Given the description of an element on the screen output the (x, y) to click on. 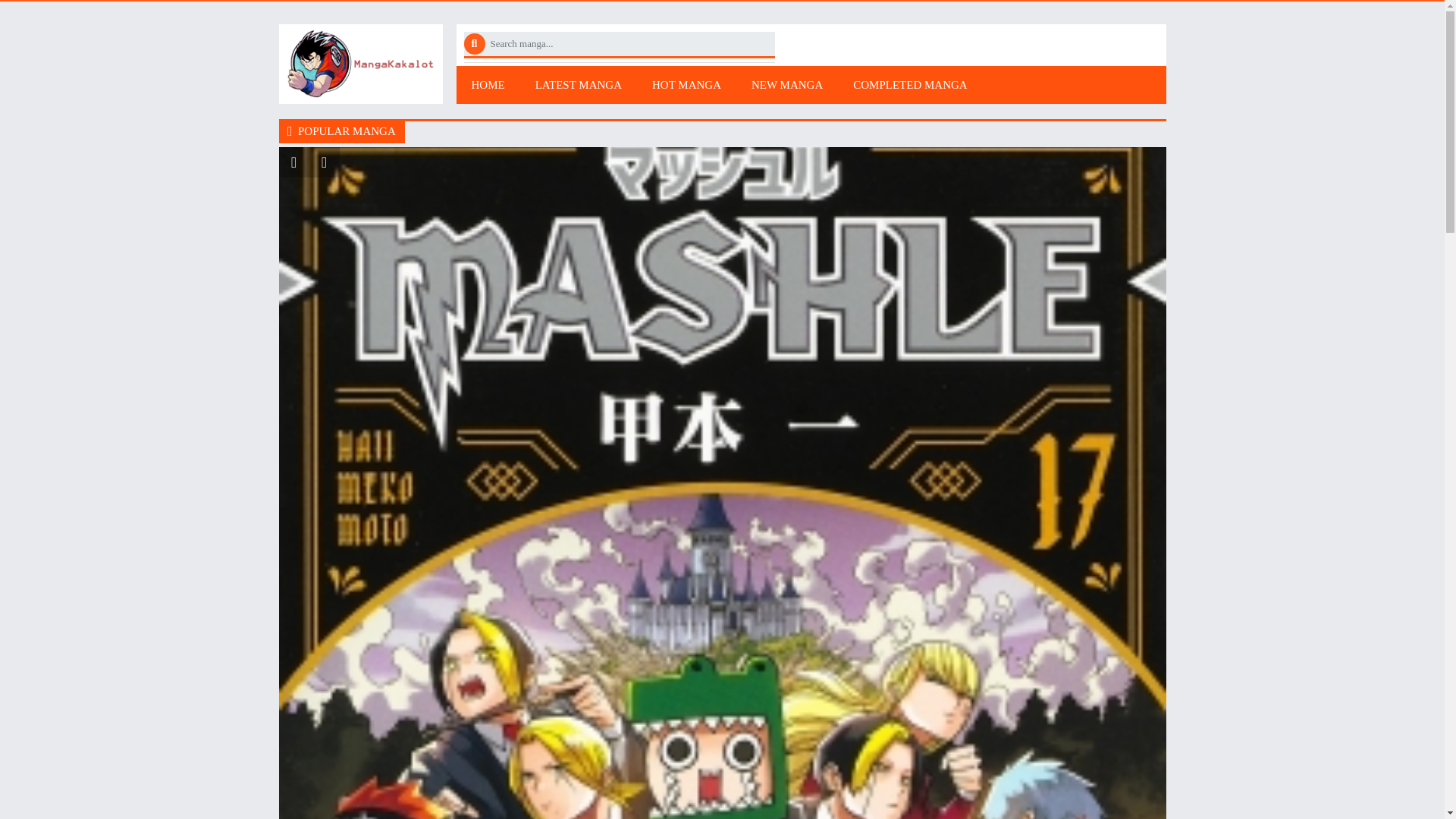
New Manga (787, 84)
Hot Manga (686, 84)
LATEST MANGA (578, 84)
Home (488, 84)
HOME (488, 84)
COMPLETED MANGA (909, 84)
Latest Manga (578, 84)
HOT MANGA (686, 84)
NEW MANGA (787, 84)
Completed Manga (909, 84)
